Given the description of an element on the screen output the (x, y) to click on. 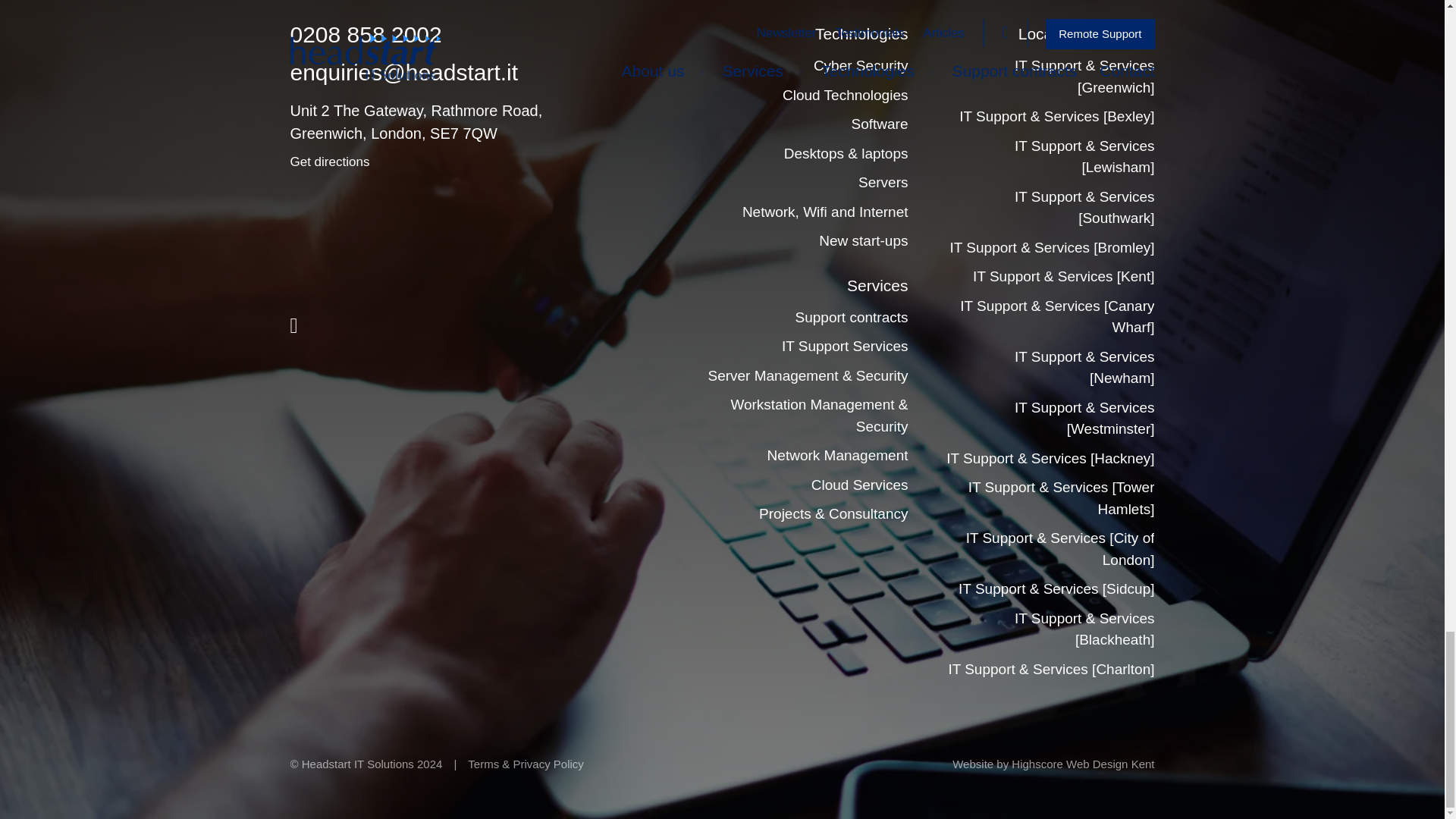
Web Design Kent (1109, 763)
